Given the description of an element on the screen output the (x, y) to click on. 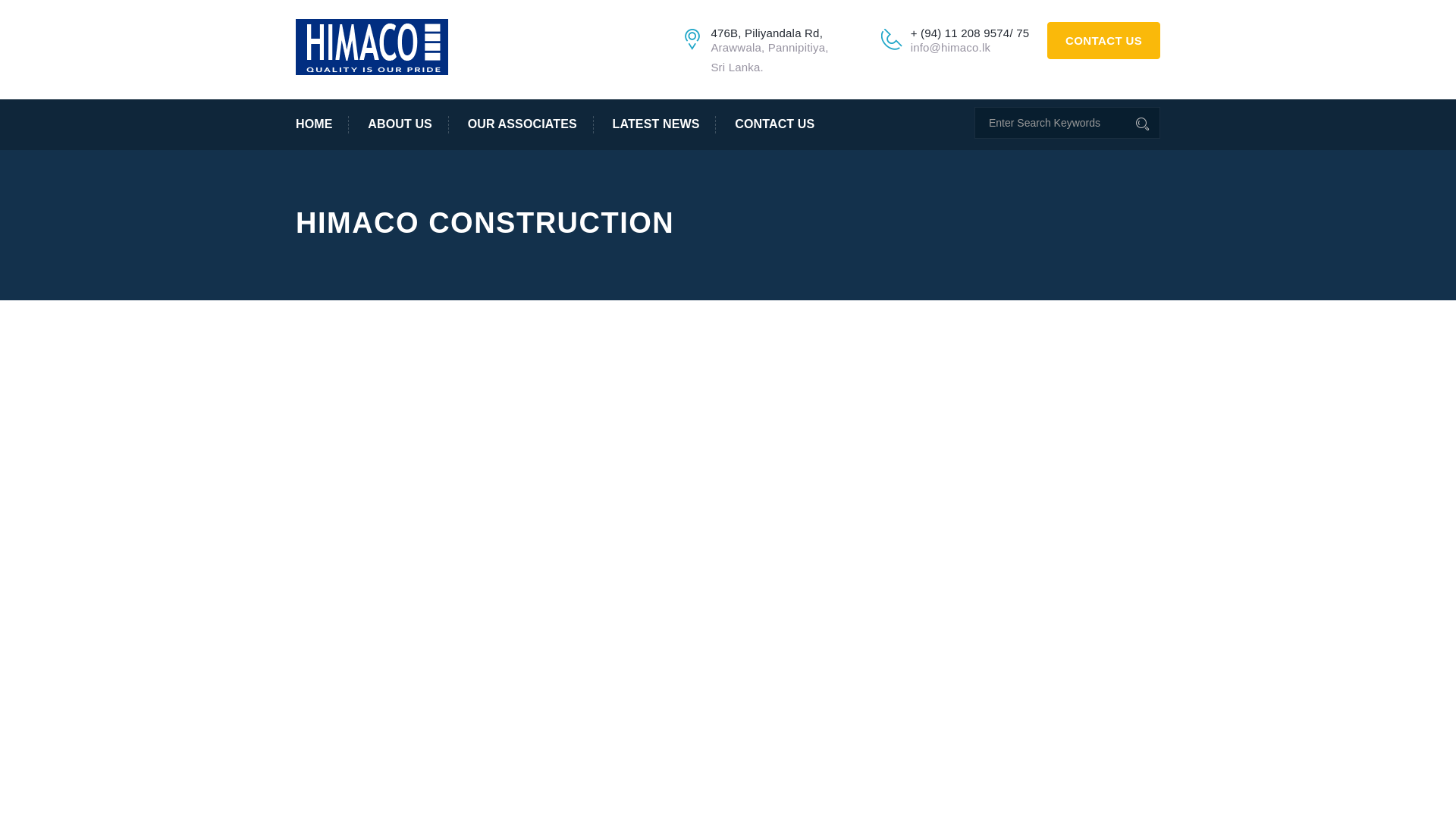
CONTACT US (766, 124)
CONTACT US (1103, 40)
ABOUT US (400, 124)
HOME (322, 124)
LATEST NEWS (656, 124)
Himaco (371, 46)
OUR ASSOCIATES (522, 124)
